Given the description of an element on the screen output the (x, y) to click on. 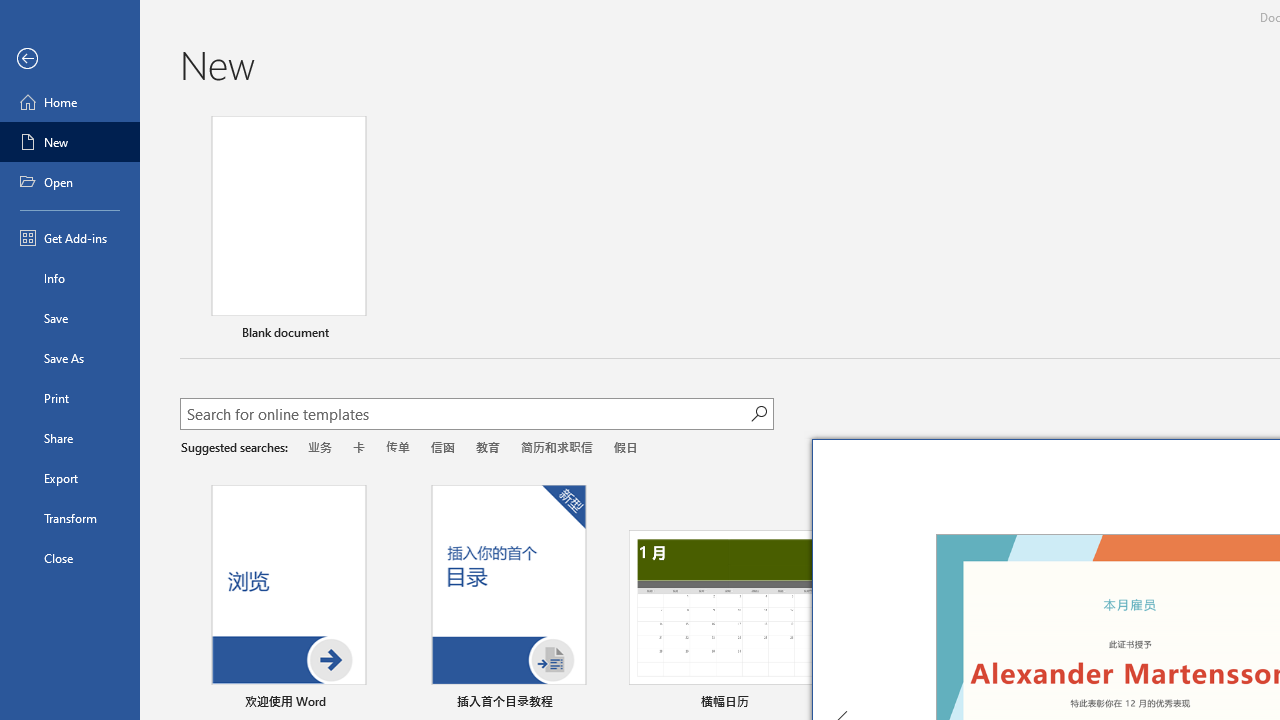
Blank document (288, 231)
Transform (69, 517)
Print (69, 398)
Back (69, 59)
Export (69, 477)
